Given the description of an element on the screen output the (x, y) to click on. 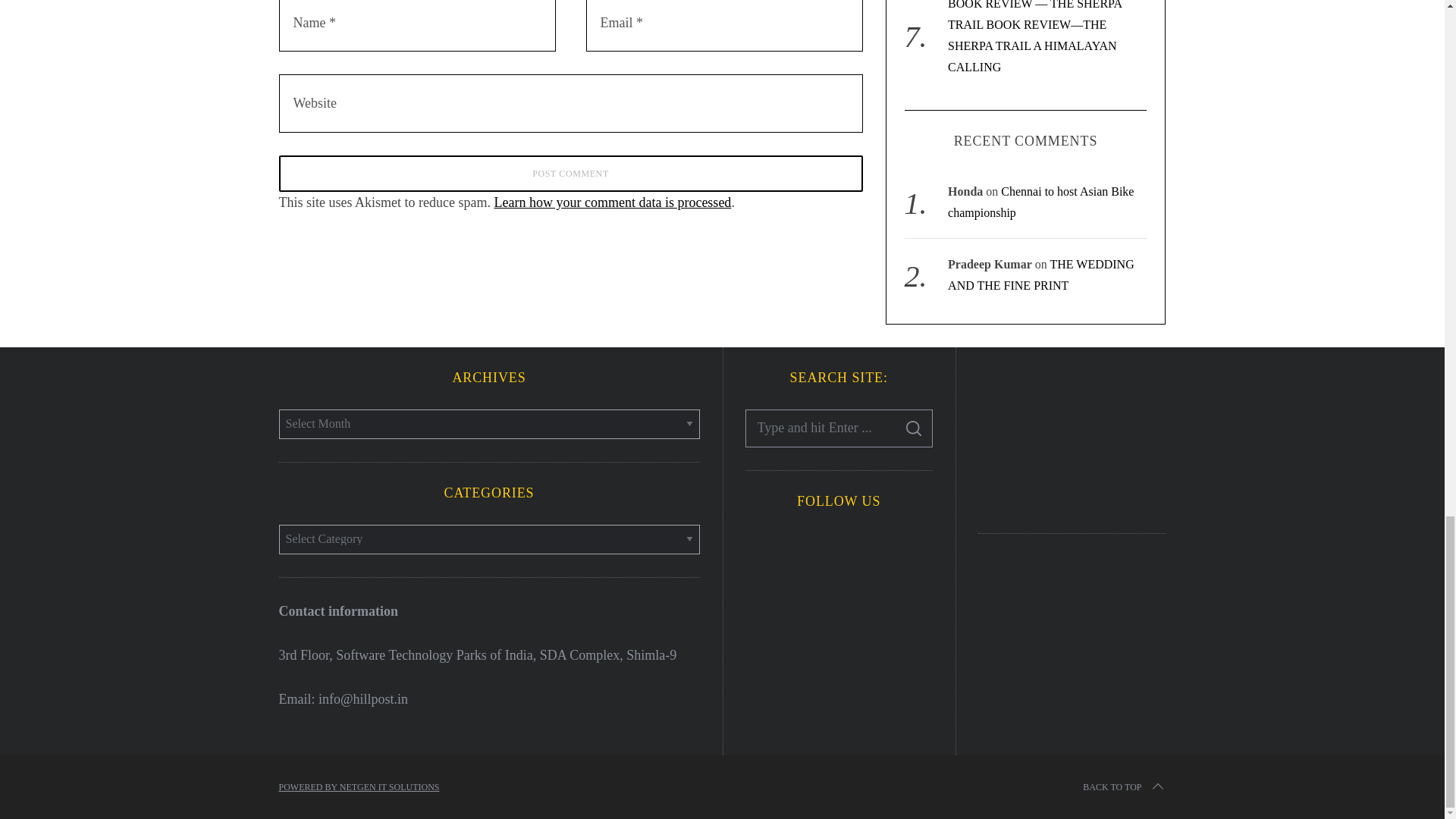
Post Comment (571, 173)
Learn how your comment data is processed (611, 201)
Post Comment (571, 173)
THE WEDDING AND THE FINE PRINT (1040, 274)
PepupHome Best Home improvement blog 2020 (1072, 437)
Chennai to host Asian Bike championship (1040, 202)
